Given the description of an element on the screen output the (x, y) to click on. 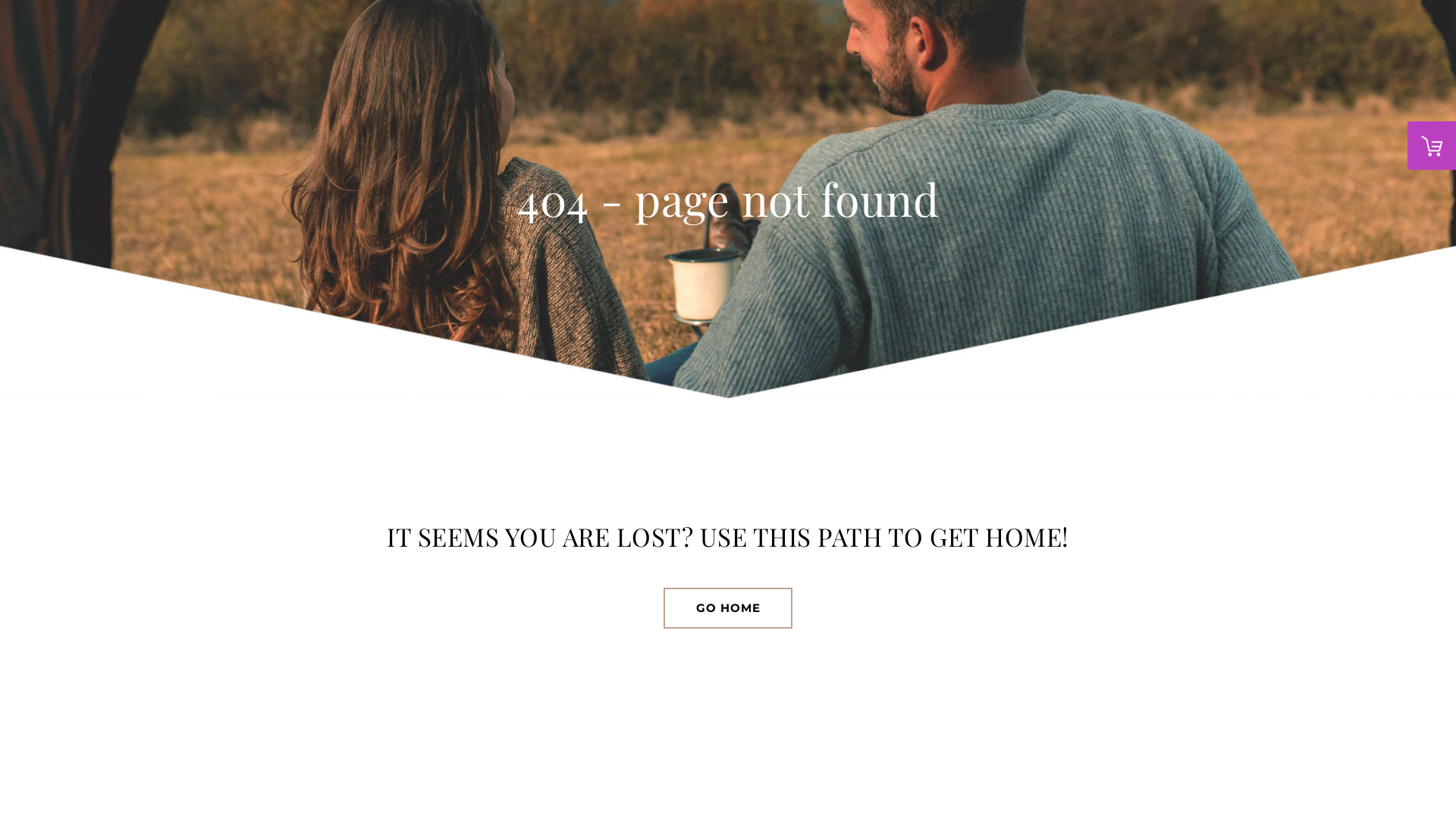
GO HOME Element type: text (727, 607)
